Given the description of an element on the screen output the (x, y) to click on. 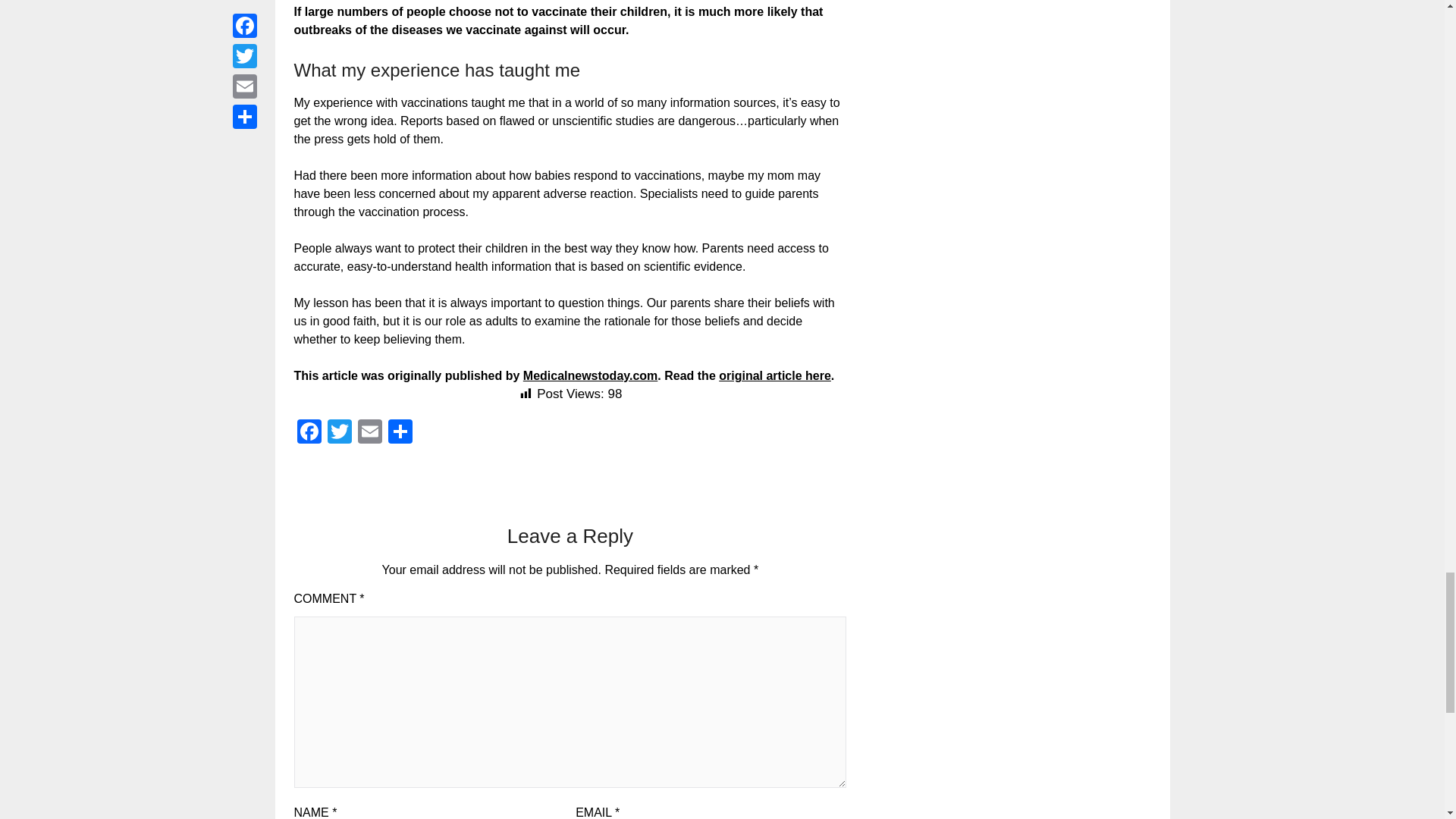
Email (370, 433)
Twitter (339, 433)
original article here (775, 375)
Twitter (339, 433)
Share (399, 433)
Email (370, 433)
Facebook (309, 433)
Facebook (309, 433)
Medicalnewstoday.com (590, 375)
